Given the description of an element on the screen output the (x, y) to click on. 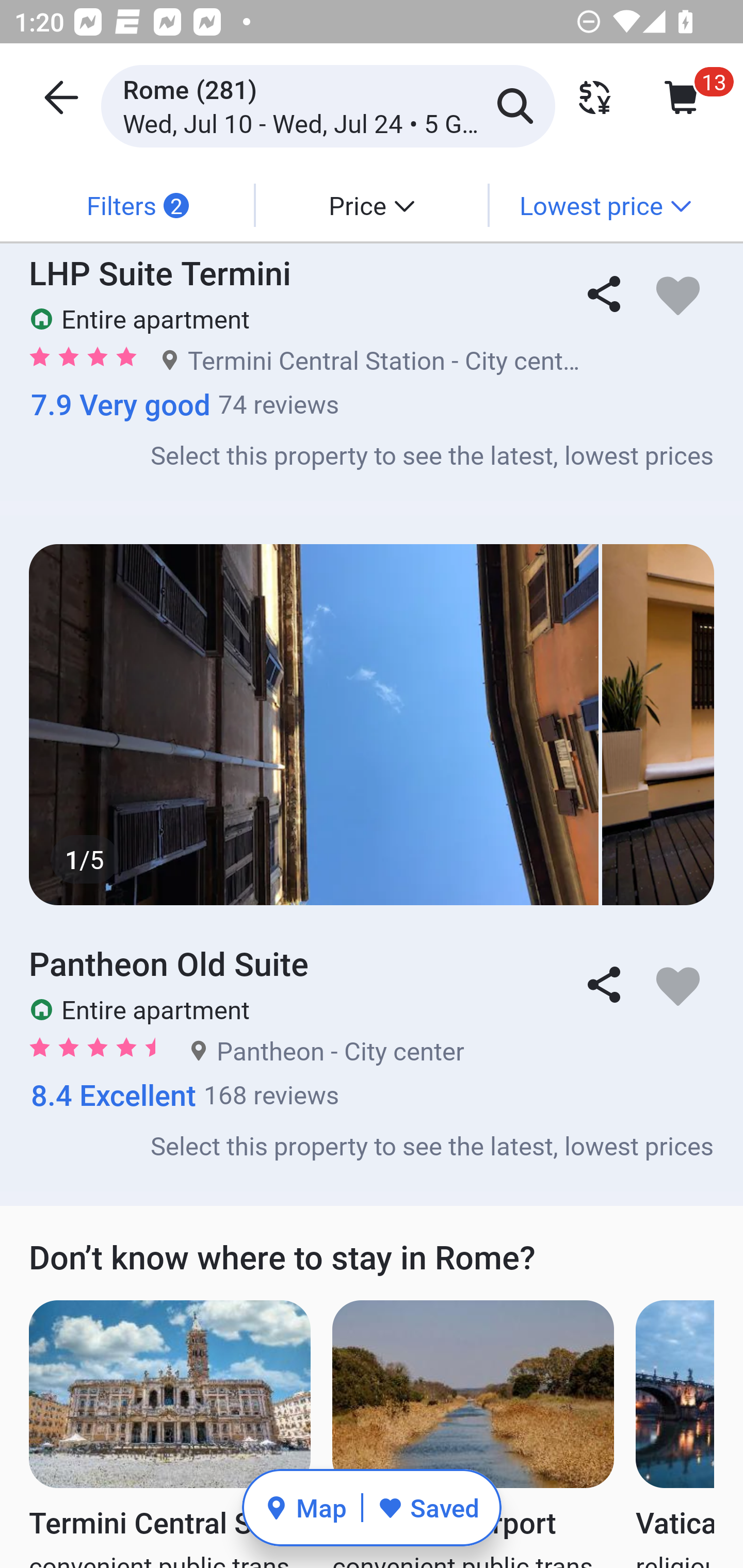
Rome (281) Wed, Jul 10 - Wed, Jul 24 • 5 Guests (327, 105)
Filters 2 (137, 205)
Price (371, 205)
Lowest price (605, 205)
1/5 (371, 724)
Fiumicino Airport convenient public transportation (472, 1433)
Map (305, 1507)
Saved (428, 1507)
